Given the description of an element on the screen output the (x, y) to click on. 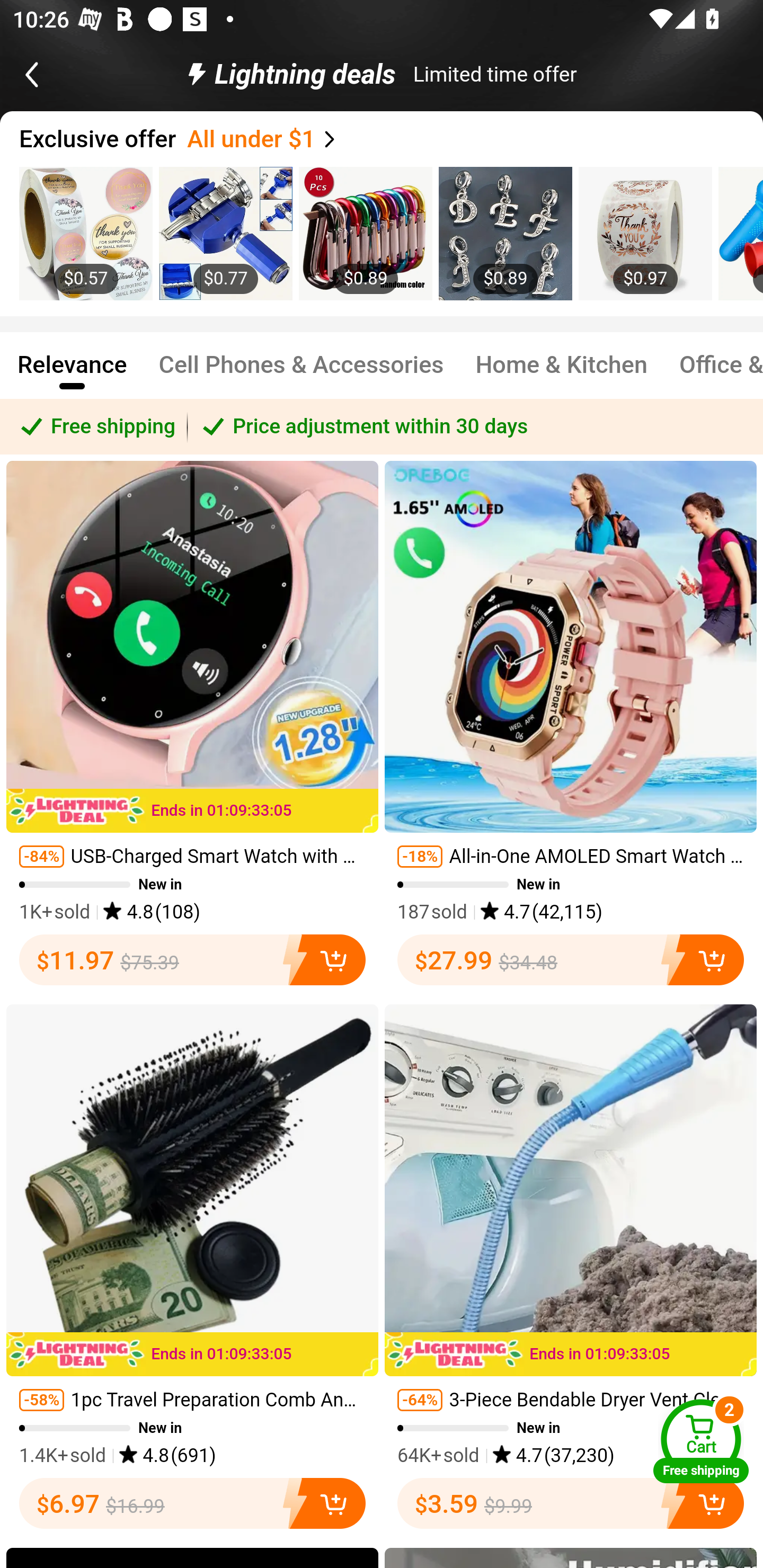
Exclusive offer All under $1 (391, 138)
Relevance (72, 373)
Cell Phones & Accessories (300, 373)
Home & Kitchen (561, 373)
Free shipping (94, 426)
Price adjustment within 30 days (475, 426)
$11.97 $75.39 (192, 959)
$27.99 $34.48 (570, 959)
Cart Free shipping Cart (701, 1440)
$6.97 $16.99 (192, 1503)
$3.59 $9.99 (570, 1503)
